Given the description of an element on the screen output the (x, y) to click on. 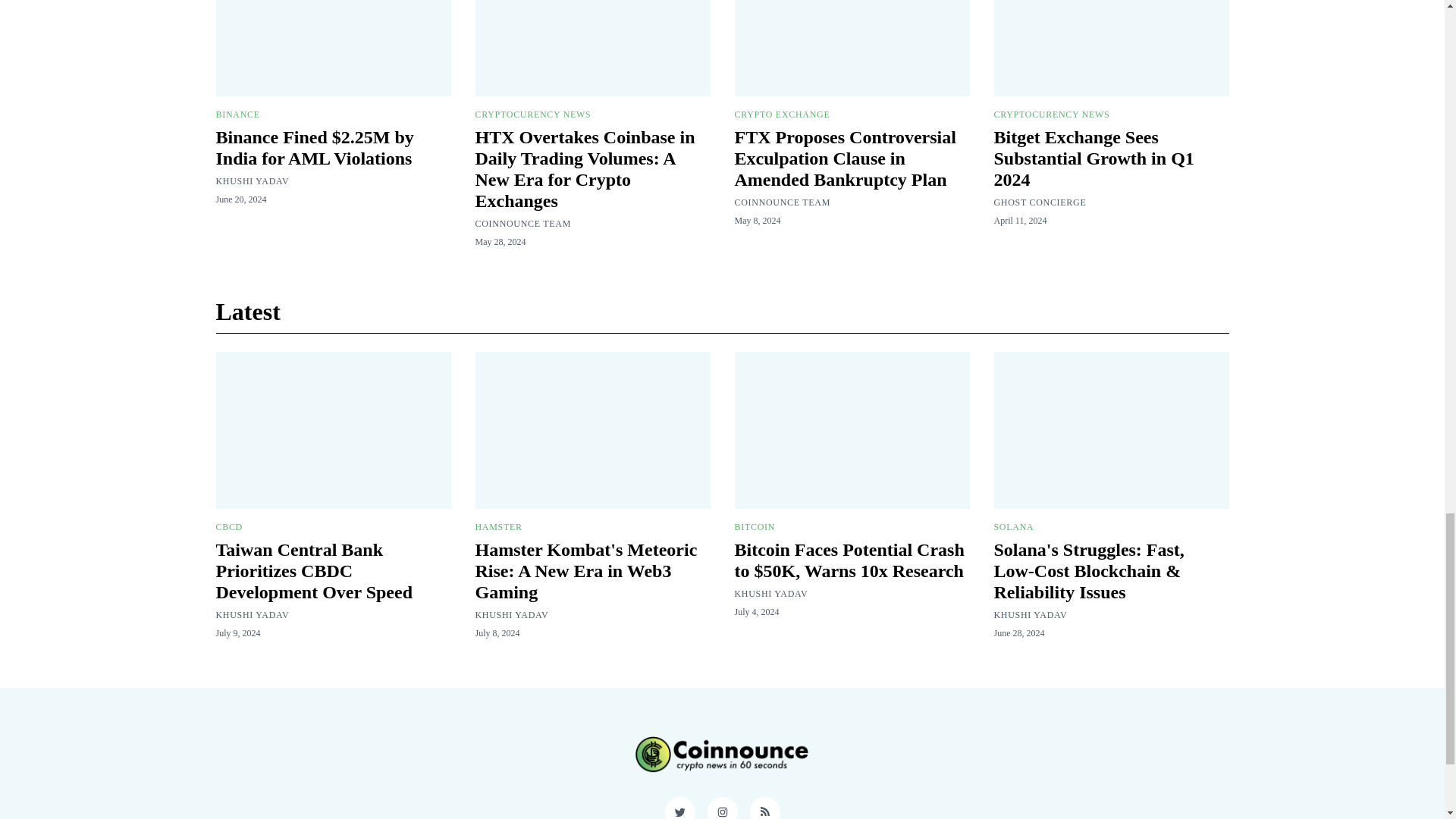
CRYPTOCURENCY NEWS (1050, 113)
CRYPTOCURENCY NEWS (532, 113)
COINNOUNCE TEAM (522, 223)
CRYPTO EXCHANGE (781, 113)
KHUSHI YADAV (251, 181)
BINANCE (237, 113)
COINNOUNCE TEAM (781, 202)
